Given the description of an element on the screen output the (x, y) to click on. 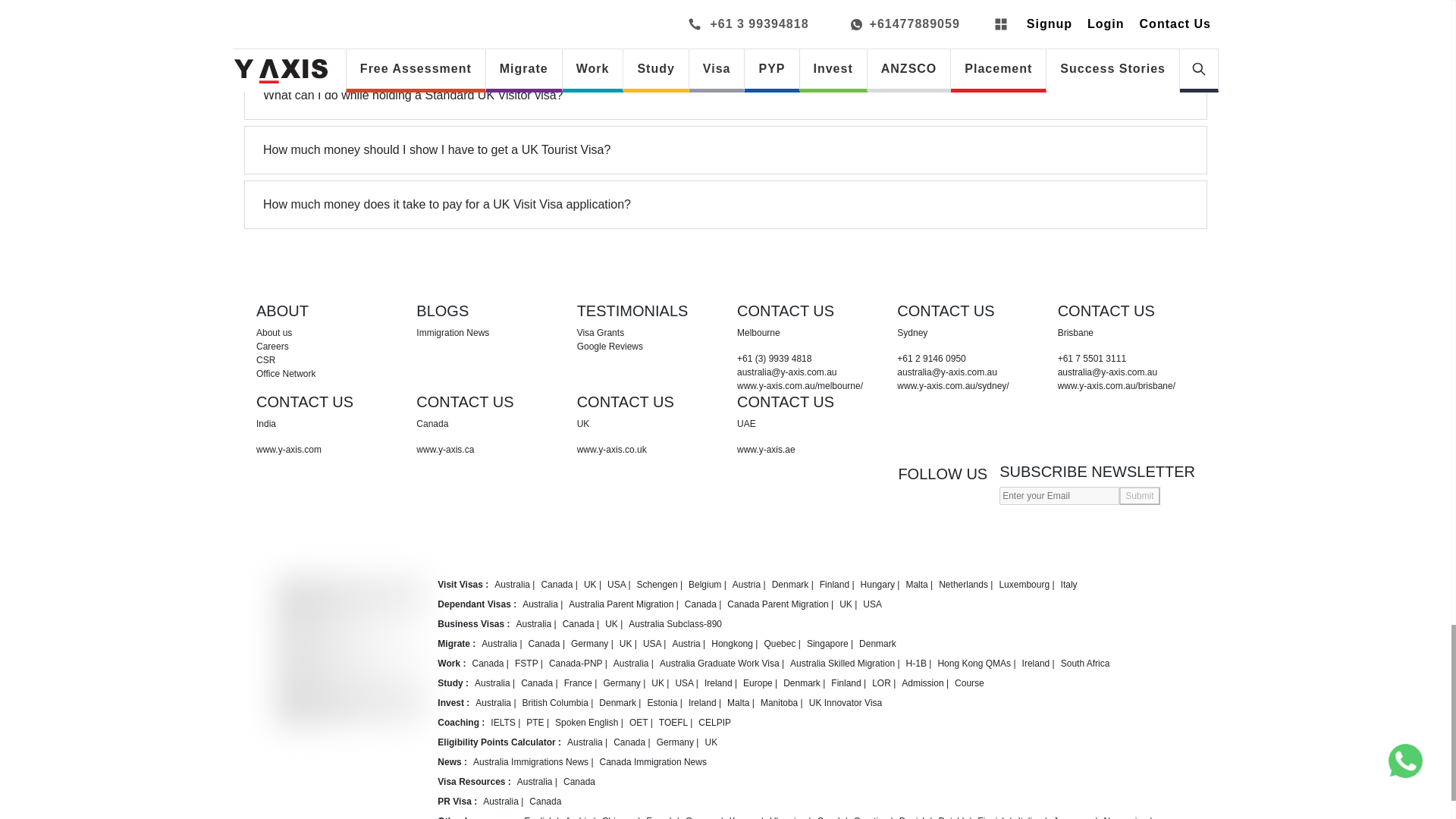
Office Network (324, 373)
About us (324, 332)
CSR (324, 359)
Careers (324, 345)
